Given the description of an element on the screen output the (x, y) to click on. 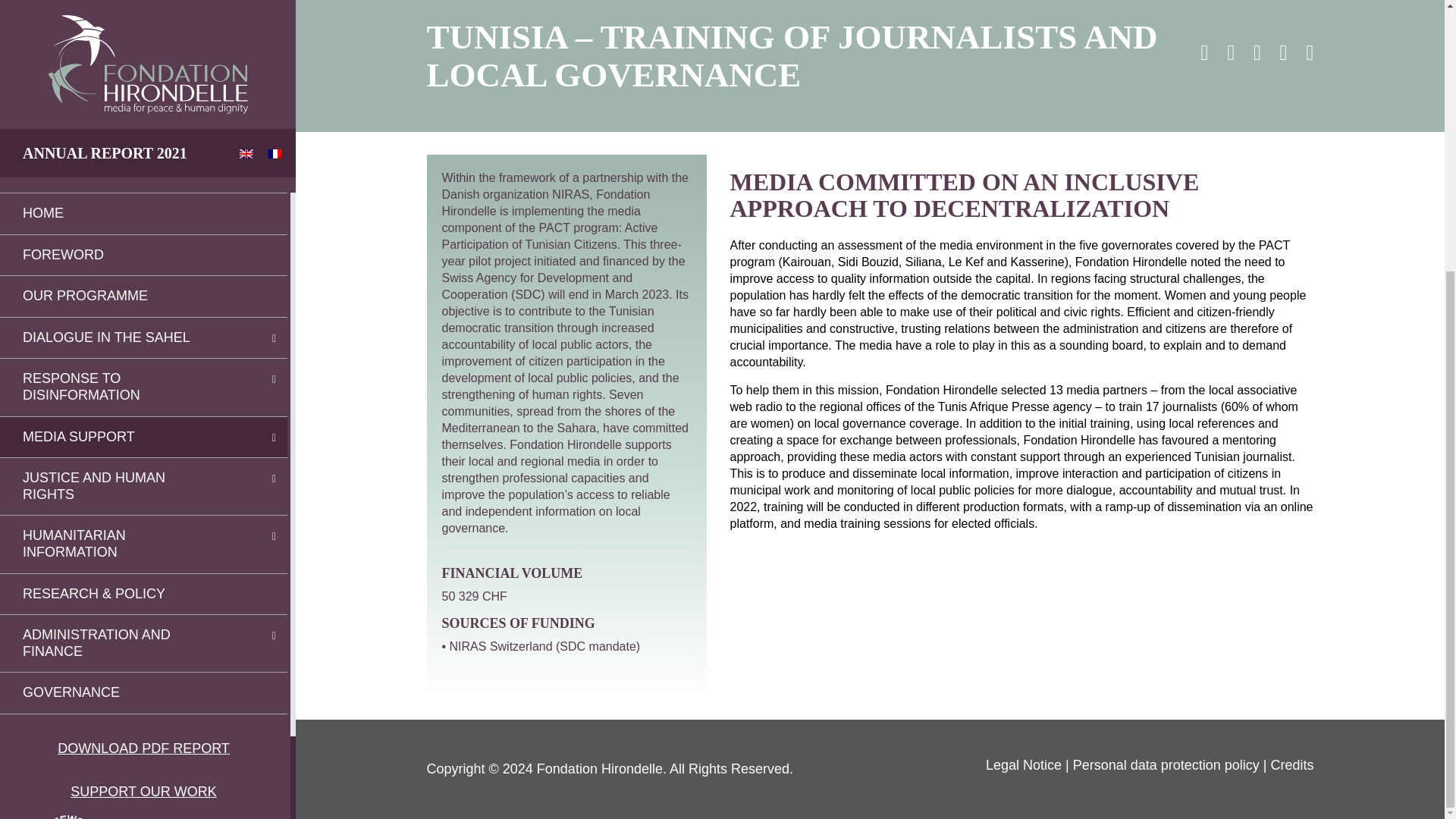
HUMANITARIAN INFORMATION (120, 146)
DOWNLOAD PDF REPORT (143, 351)
MEDIA SUPPORT (120, 39)
JUSTICE AND HUMAN RIGHTS (120, 88)
Response to Disinformation (120, 9)
GOVERNANCE (143, 295)
ADMINISTRATION AND FINANCE (120, 245)
RESPONSE TO DISINFORMATION (120, 9)
SUPPORT OUR WORK (143, 394)
Media support (120, 39)
